Given the description of an element on the screen output the (x, y) to click on. 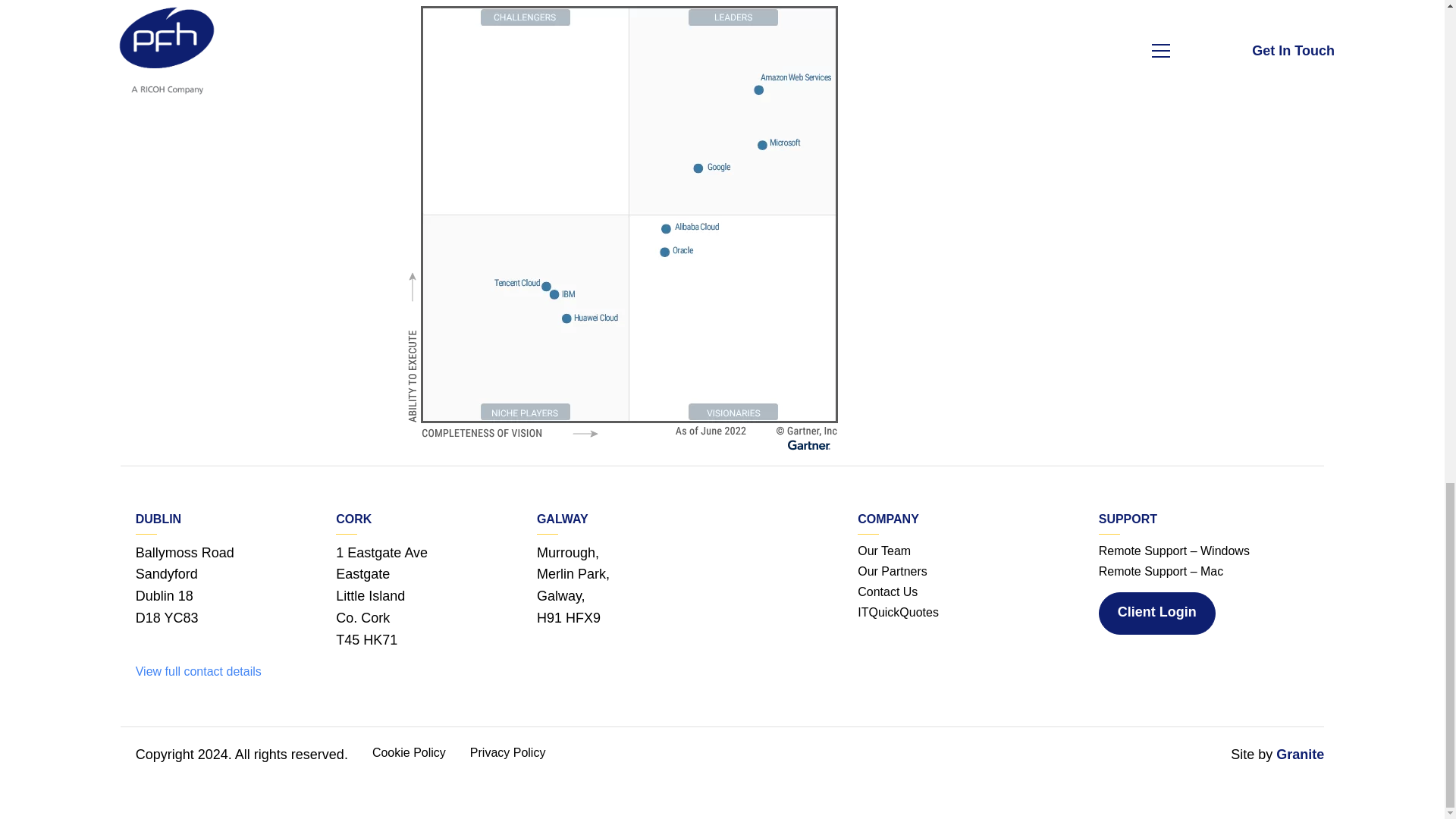
Support (887, 592)
Solutions (892, 570)
View full contact details (198, 671)
